Given the description of an element on the screen output the (x, y) to click on. 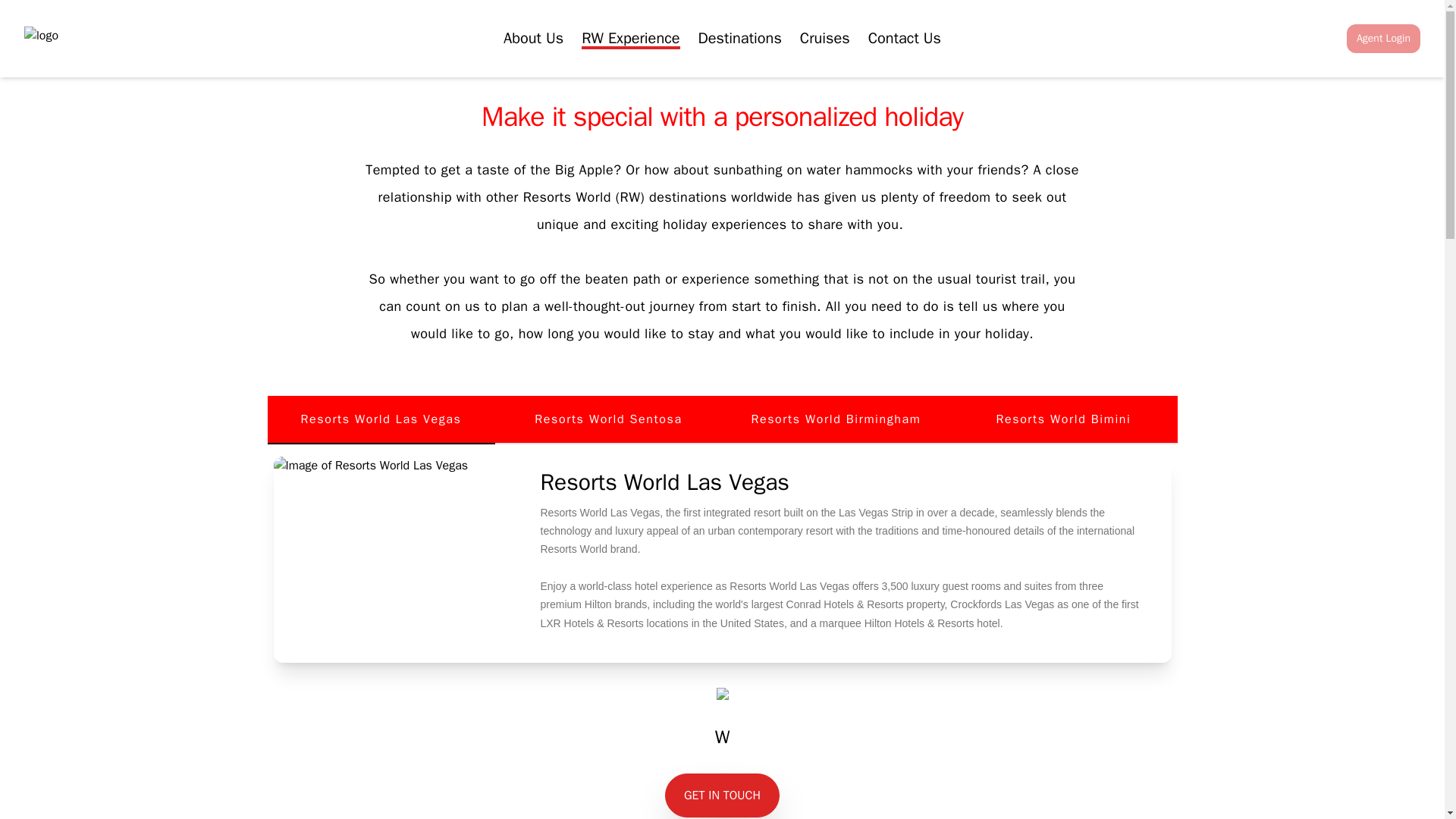
Destinations (739, 37)
Cruises (824, 37)
GET IN TOUCH (721, 795)
RW Experience (629, 37)
Resorts World Birmingham (835, 419)
About Us (533, 37)
Agent Login (1383, 38)
Resorts World Sentosa (608, 419)
Resorts World Las Vegas (380, 419)
Resorts World Bimini (1062, 419)
GET IN TOUCH (721, 793)
Contact Us (721, 771)
